Given the description of an element on the screen output the (x, y) to click on. 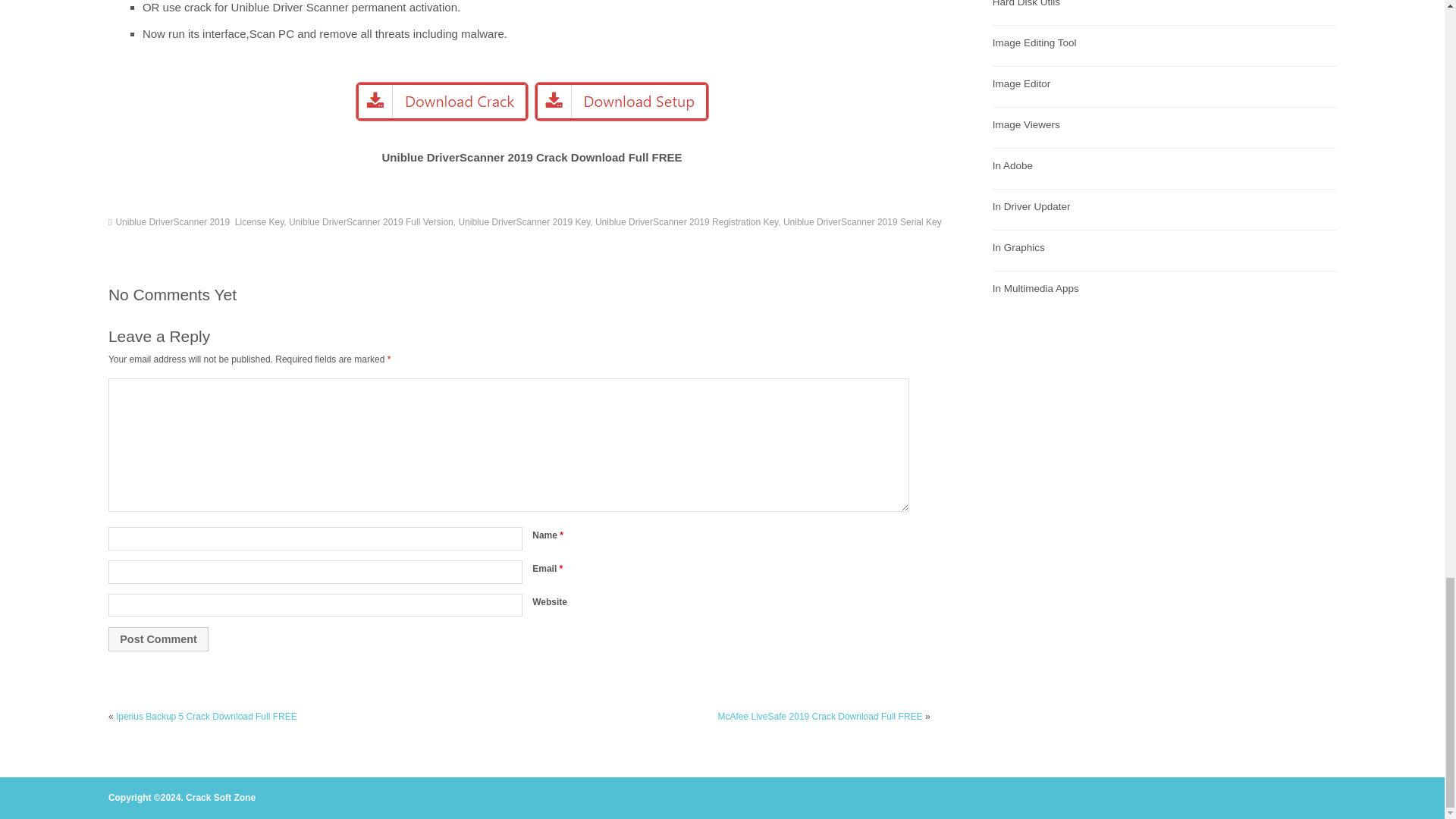
Post Comment (157, 639)
Uniblue DriverScanner 2019  License Key (199, 222)
Iperius Backup 5 Crack Download Full FREE (206, 716)
Uniblue DriverScanner 2019 Full Version (370, 222)
Uniblue DriverScanner 2019 Key (523, 222)
McAfee LiveSafe 2019 Crack Download Full FREE (819, 716)
Post Comment (157, 639)
Uniblue DriverScanner 2019 Registration Key (686, 222)
Uniblue DriverScanner 2019 Serial Key (862, 222)
